Given the description of an element on the screen output the (x, y) to click on. 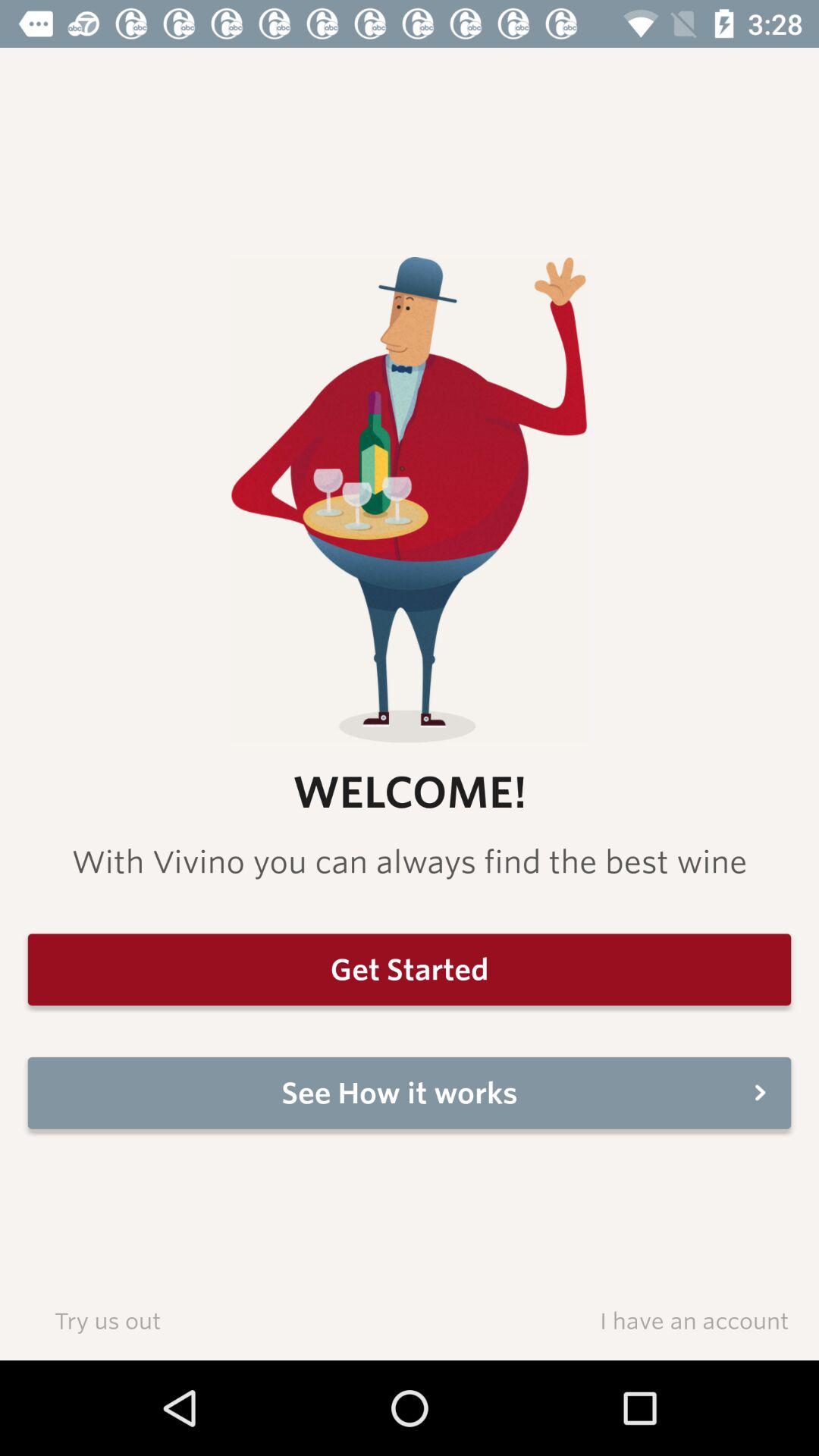
tap item to the left of i have an item (107, 1320)
